Given the description of an element on the screen output the (x, y) to click on. 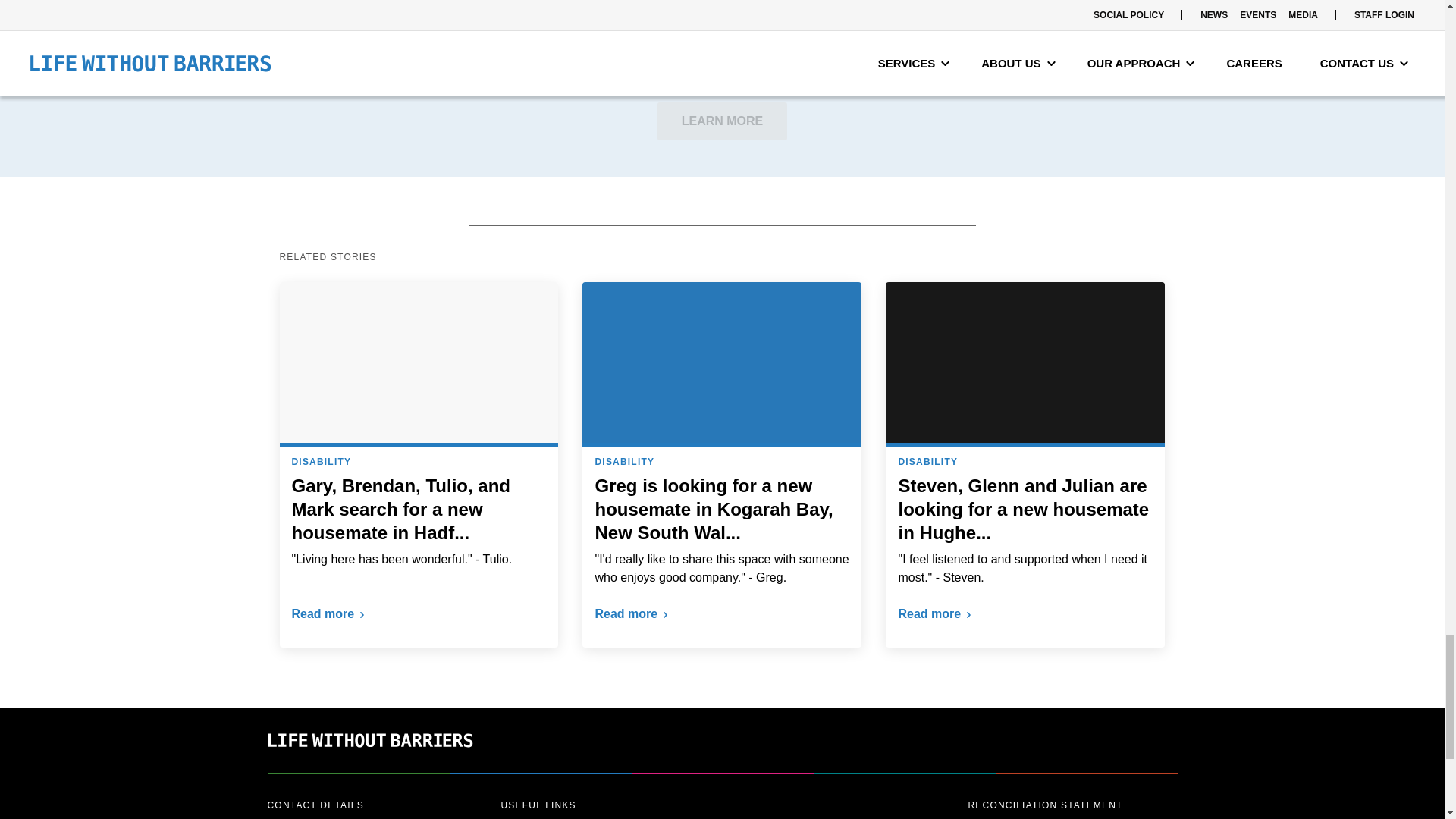
Life Without Barriers home page (368, 762)
LEARN MORE (722, 121)
1800 935 483 (322, 815)
